Given the description of an element on the screen output the (x, y) to click on. 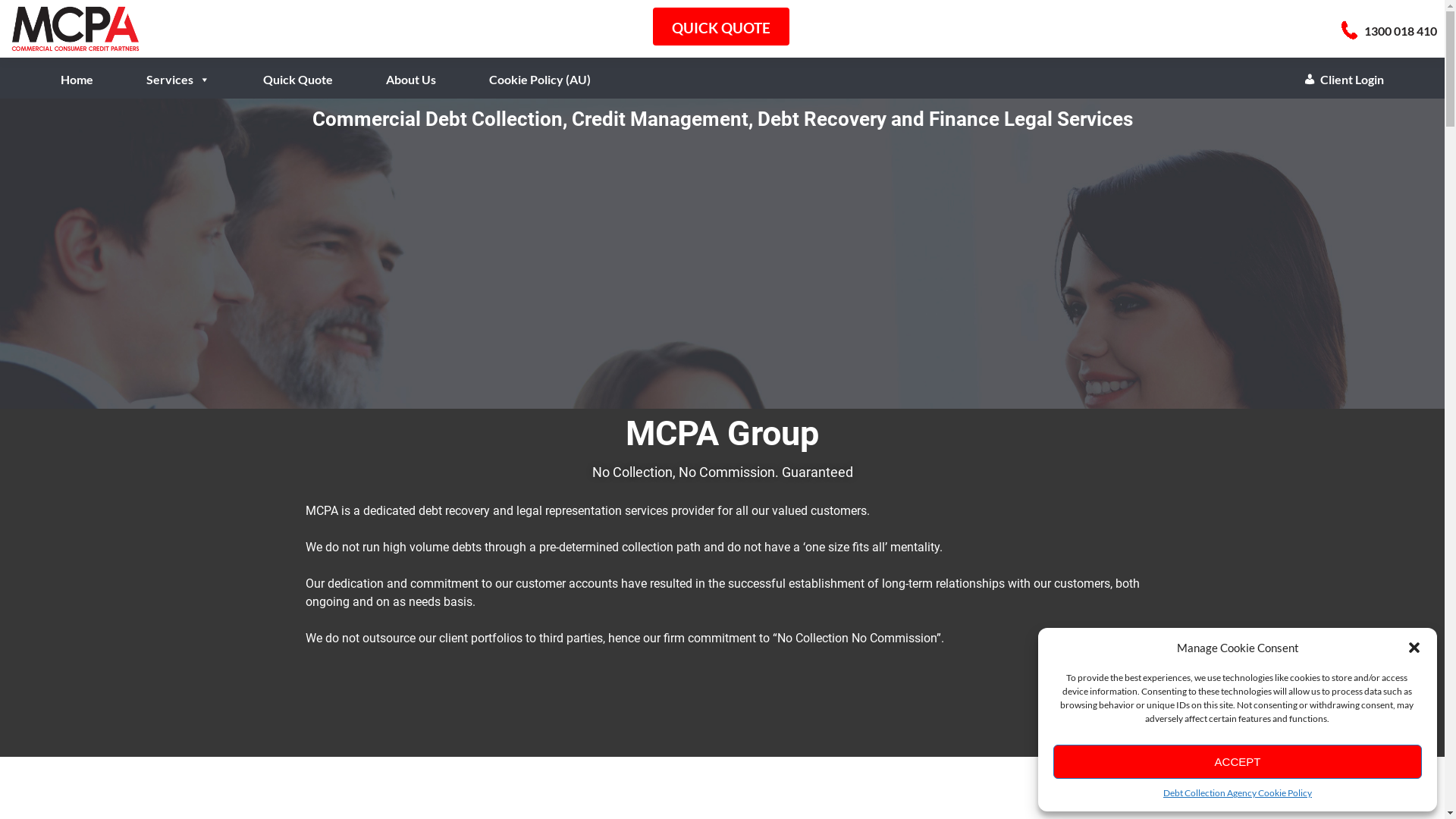
Home Element type: text (76, 67)
Cookie Policy (AU) Element type: text (539, 67)
QUICK QUOTE Element type: text (720, 26)
Debt Collection Agency Cookie Policy Element type: text (1237, 793)
About Us Element type: text (410, 67)
Client Login Element type: text (1343, 67)
ACCEPT Element type: text (1237, 761)
Services Element type: text (177, 67)
Quick Quote Element type: text (297, 67)
MCPA Group Element type: hover (75, 28)
